Given the description of an element on the screen output the (x, y) to click on. 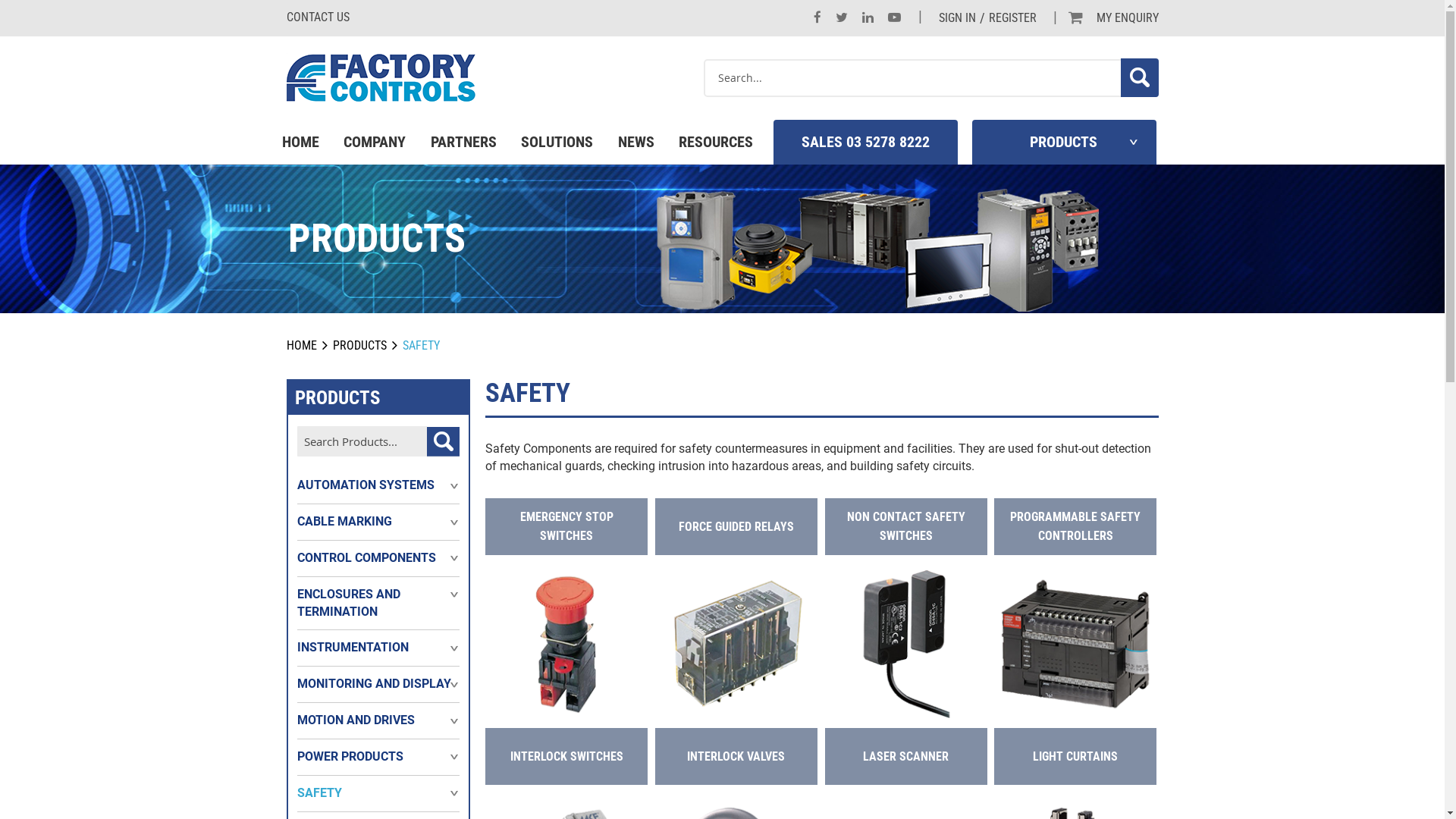
SALES 03 5278 8222 Element type: text (865, 141)
CONTROL COMPONENTS Element type: text (366, 558)
SOLUTIONS Element type: text (556, 142)
MOTION AND DRIVES Element type: text (355, 720)
MONITORING AND DISPLAY Element type: text (374, 684)
RESOURCES Element type: text (715, 142)
HOME Element type: text (301, 345)
ENCLOSURES AND TERMINATION Element type: text (378, 603)
INSTRUMENTATION Element type: text (352, 647)
POWER PRODUCTS Element type: text (350, 756)
LIGHT CURTAINS Element type: text (1075, 755)
PRODUCTS Element type: text (1063, 142)
PRODUCTS Element type: text (358, 345)
MY CART Element type: text (1074, 18)
REGISTER Element type: text (1012, 17)
SAFETY Element type: text (319, 793)
Factory Controls Element type: hover (381, 77)
CABLE MARKING Element type: text (344, 521)
PROGRAMMABLE SAFETY CONTROLLERS Element type: text (1074, 526)
COMPANY Element type: text (374, 142)
MY ENQUIRY Element type: text (1127, 17)
SIGN IN Element type: text (956, 17)
Search Element type: text (1139, 77)
EMERGENCY STOP SWITCHES Element type: text (566, 526)
PARTNERS Element type: text (463, 142)
INTERLOCK SWITCHES Element type: text (566, 755)
NON CONTACT SAFETY SWITCHES Element type: text (905, 526)
AUTOMATION SYSTEMS Element type: text (365, 485)
GO Element type: hover (442, 441)
HOME Element type: text (300, 142)
INTERLOCK VALVES Element type: text (735, 755)
NEWS Element type: text (635, 142)
CONTACT US Element type: text (317, 16)
FORCE GUIDED RELAYS Element type: text (735, 526)
LASER SCANNER Element type: text (905, 755)
